Given the description of an element on the screen output the (x, y) to click on. 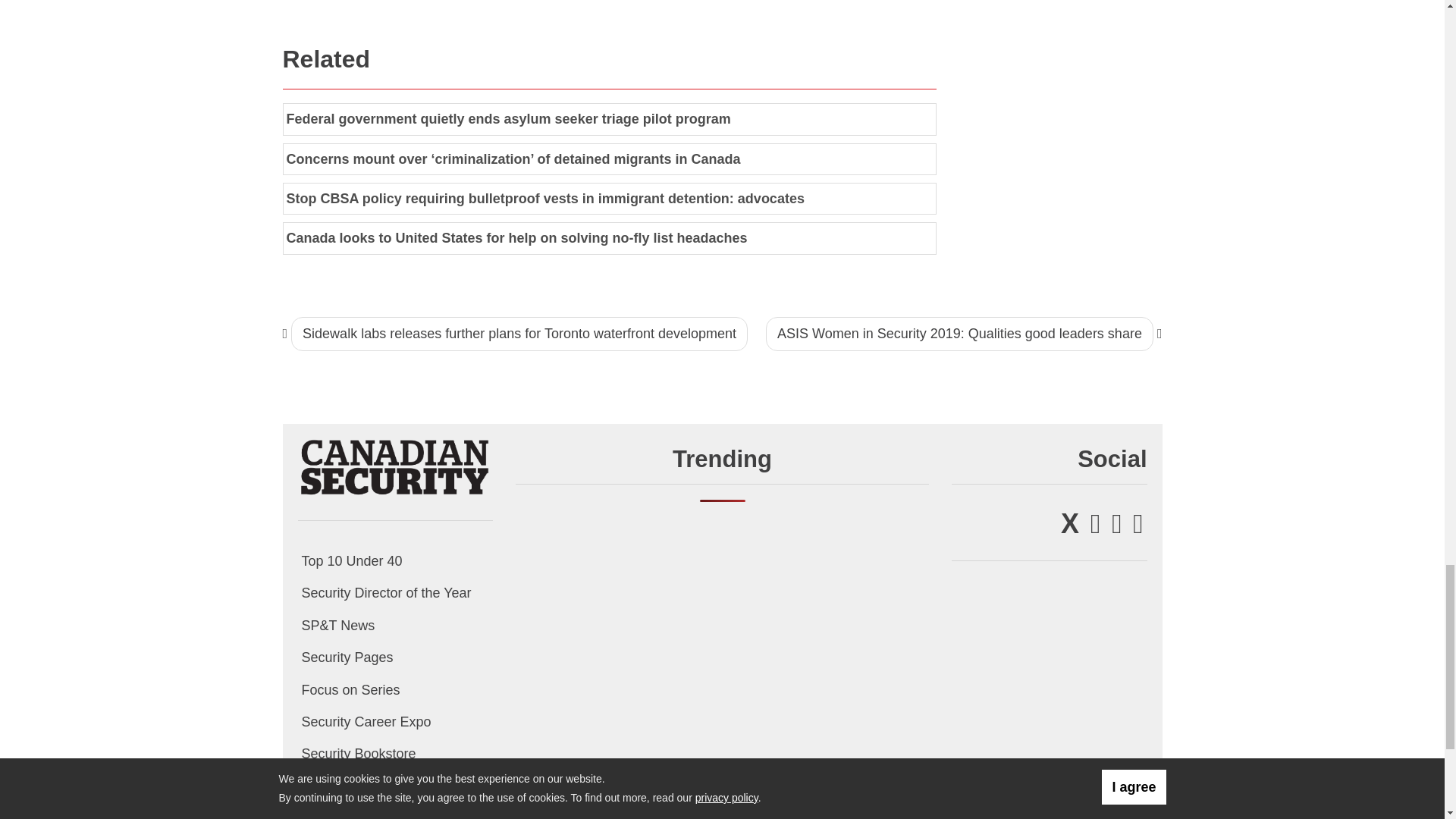
Canadian Security Magazine (395, 466)
